Given the description of an element on the screen output the (x, y) to click on. 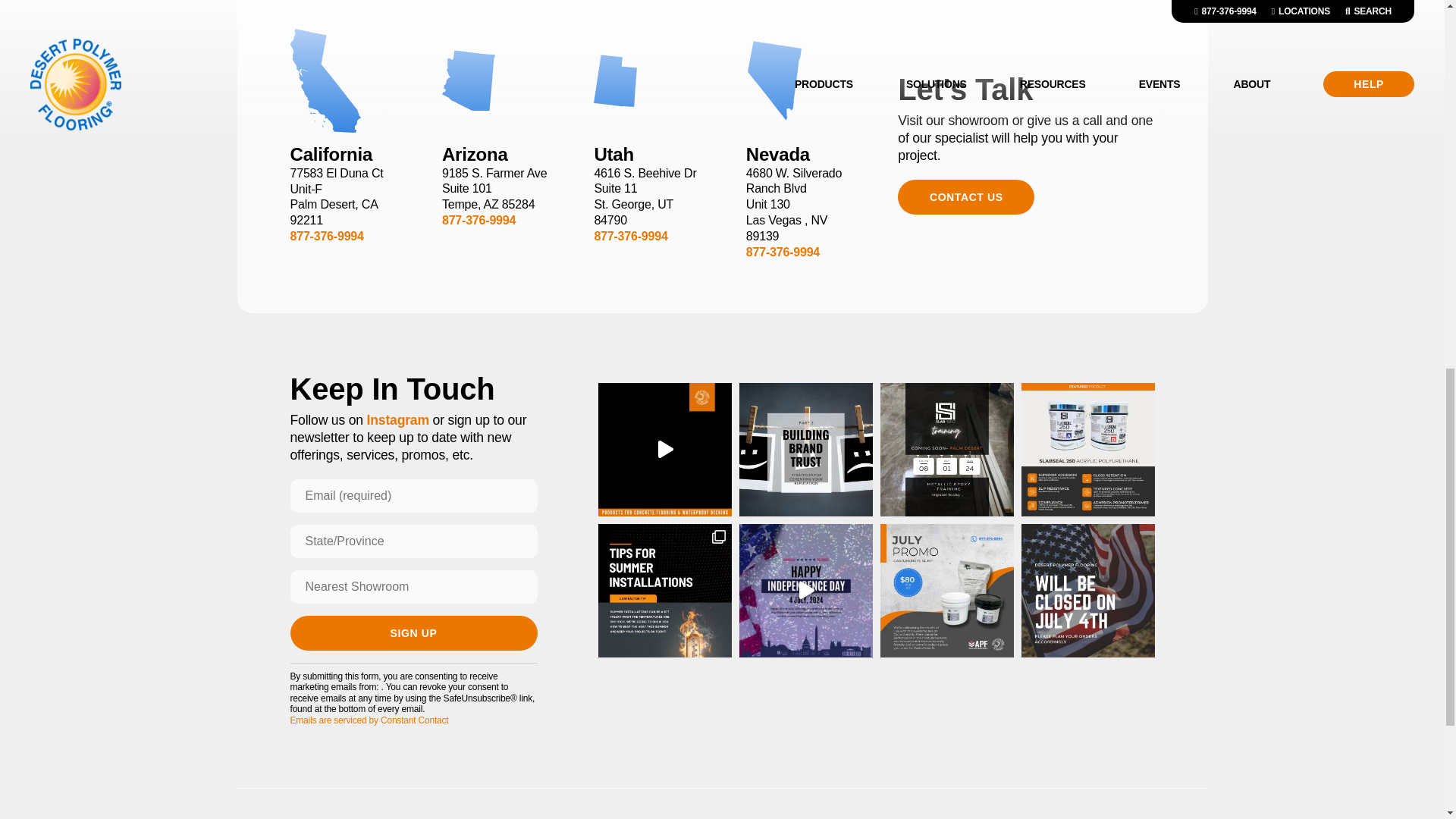
Sign up (413, 632)
